Given the description of an element on the screen output the (x, y) to click on. 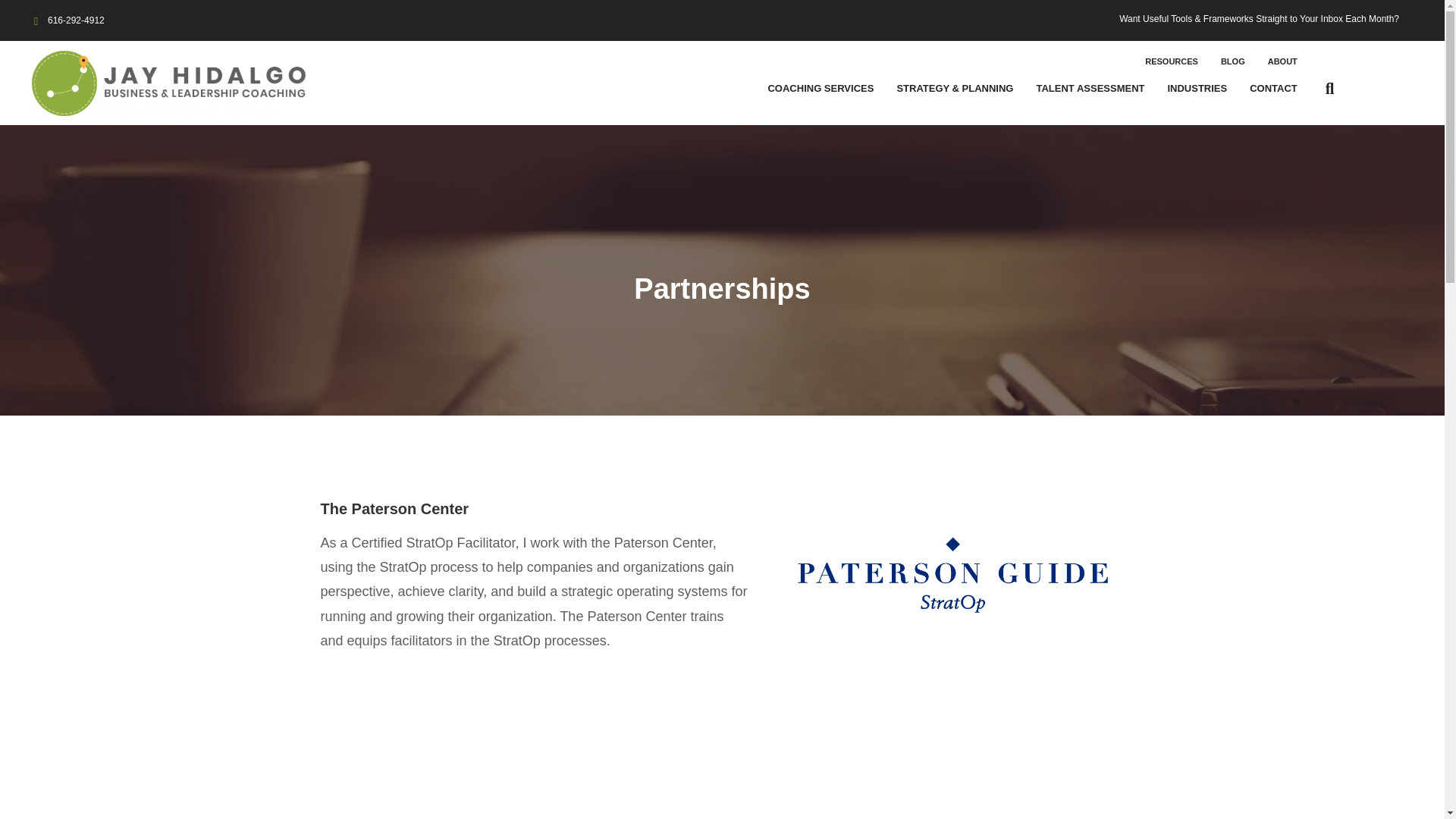
TALENT ASSESSMENT (1089, 88)
ABOUT (1282, 61)
INDUSTRIES (1196, 88)
CONTACT (1272, 88)
COACHING SERVICES (820, 88)
RESOURCES (1171, 61)
cropped-cropped-JH-Logo-2.png (170, 82)
BLOG (1232, 61)
